Given the description of an element on the screen output the (x, y) to click on. 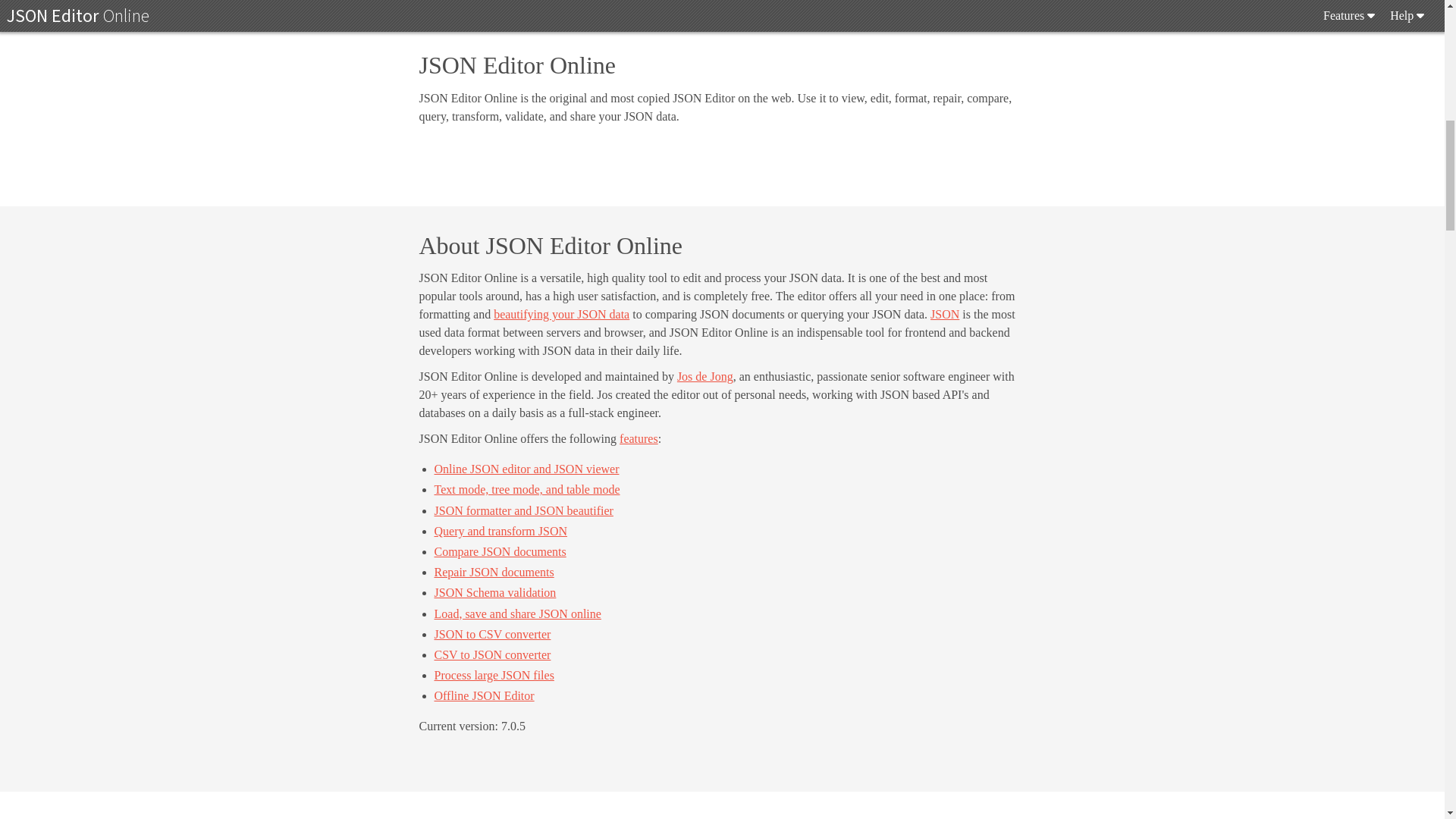
Load, save and share JSON online (516, 612)
JSON to CSV converter (491, 634)
Process large JSON files (493, 675)
Offline JSON Editor (483, 695)
Query and transform JSON (500, 530)
Online JSON editor and JSON viewer (525, 468)
JSON (944, 314)
beautifying your JSON data (560, 314)
JSON Schema validation (494, 592)
Compare JSON documents (499, 551)
